Given the description of an element on the screen output the (x, y) to click on. 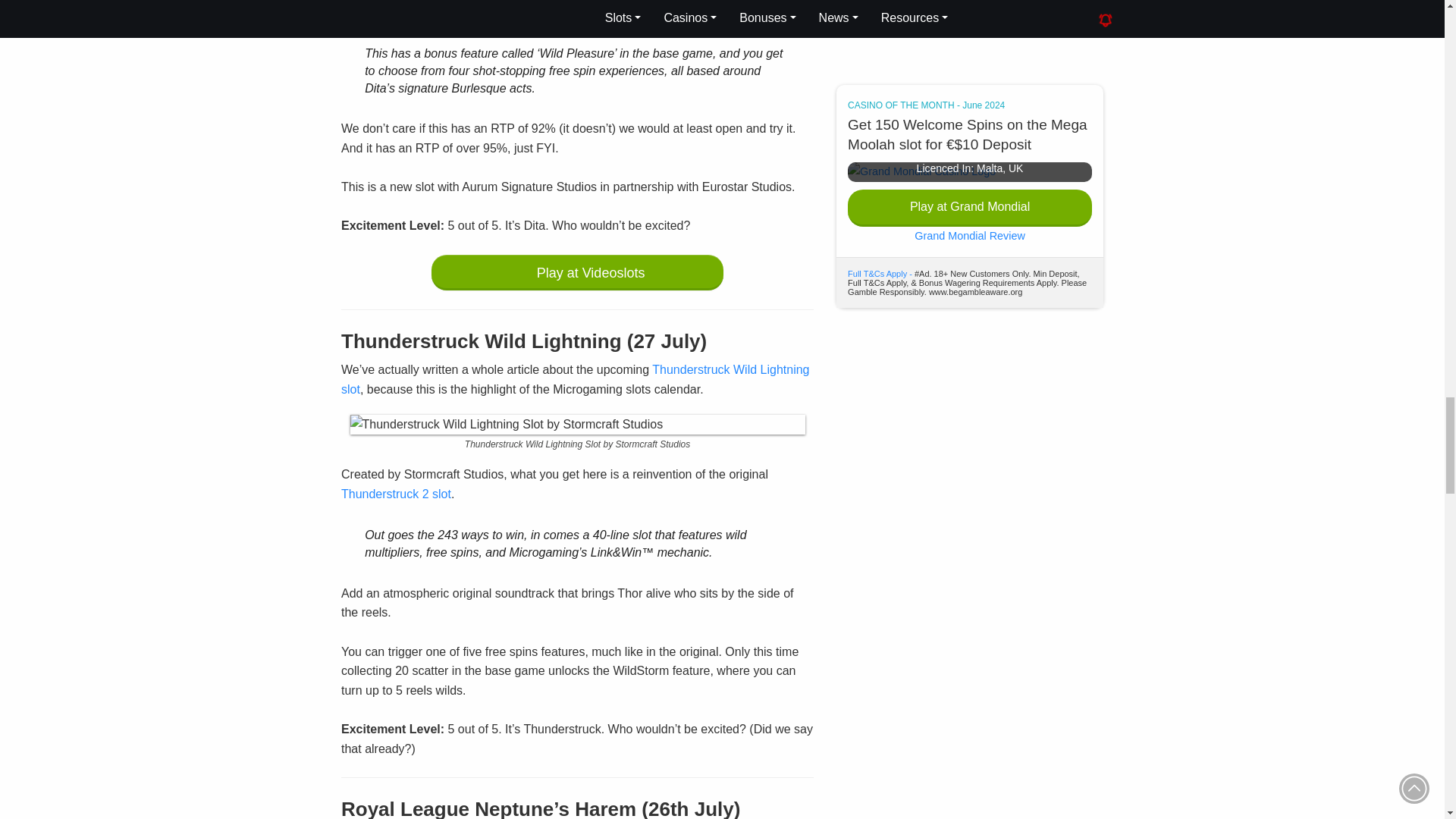
Play at Videoslots (576, 272)
